Given the description of an element on the screen output the (x, y) to click on. 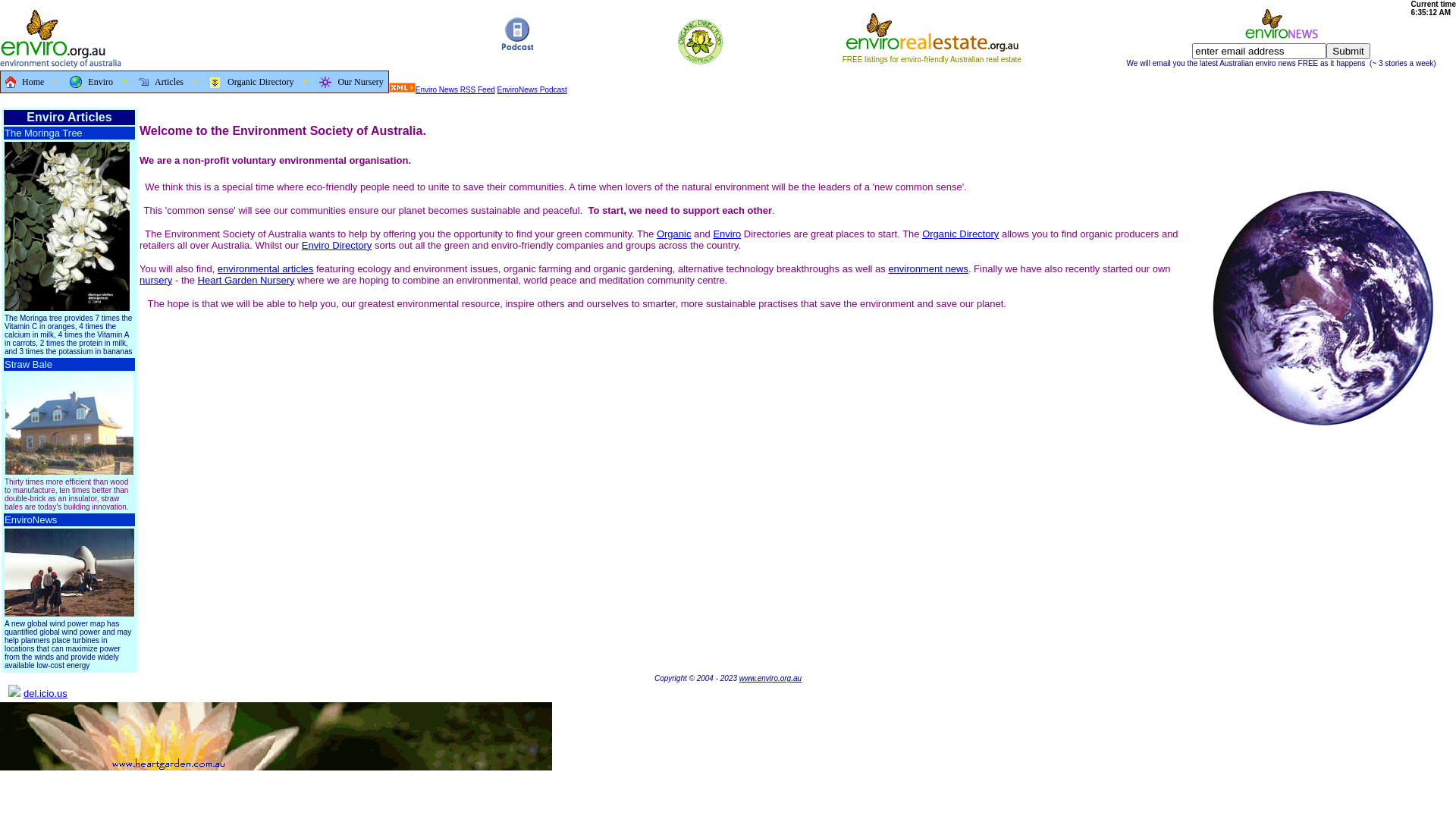
Enviro Directory Element type: text (336, 245)
Home Element type: text (33, 81)
EnviroNews Podcast Element type: text (532, 89)
Enviro Articles Element type: text (68, 116)
Heart Garden Nursery Element type: text (245, 279)
EnviroNews Element type: text (30, 519)
del.icio.us Element type: text (45, 692)
Organic Directory Element type: text (260, 81)
Enviro Element type: text (726, 233)
Straw Bale Element type: text (28, 364)
Organic Directory Element type: text (960, 233)
Articles Element type: text (169, 81)
Submit Element type: text (1347, 50)
Organic Element type: text (673, 233)
www.enviro.org.au Element type: text (770, 678)
The Moringa Tree Element type: text (43, 132)
environment news Element type: text (928, 268)
Enviro News RSS Feed Element type: text (455, 89)
nursery Element type: text (155, 279)
environmental articles Element type: text (265, 268)
Our Nursery Element type: text (350, 81)
Enviro Element type: text (100, 81)
